Given the description of an element on the screen output the (x, y) to click on. 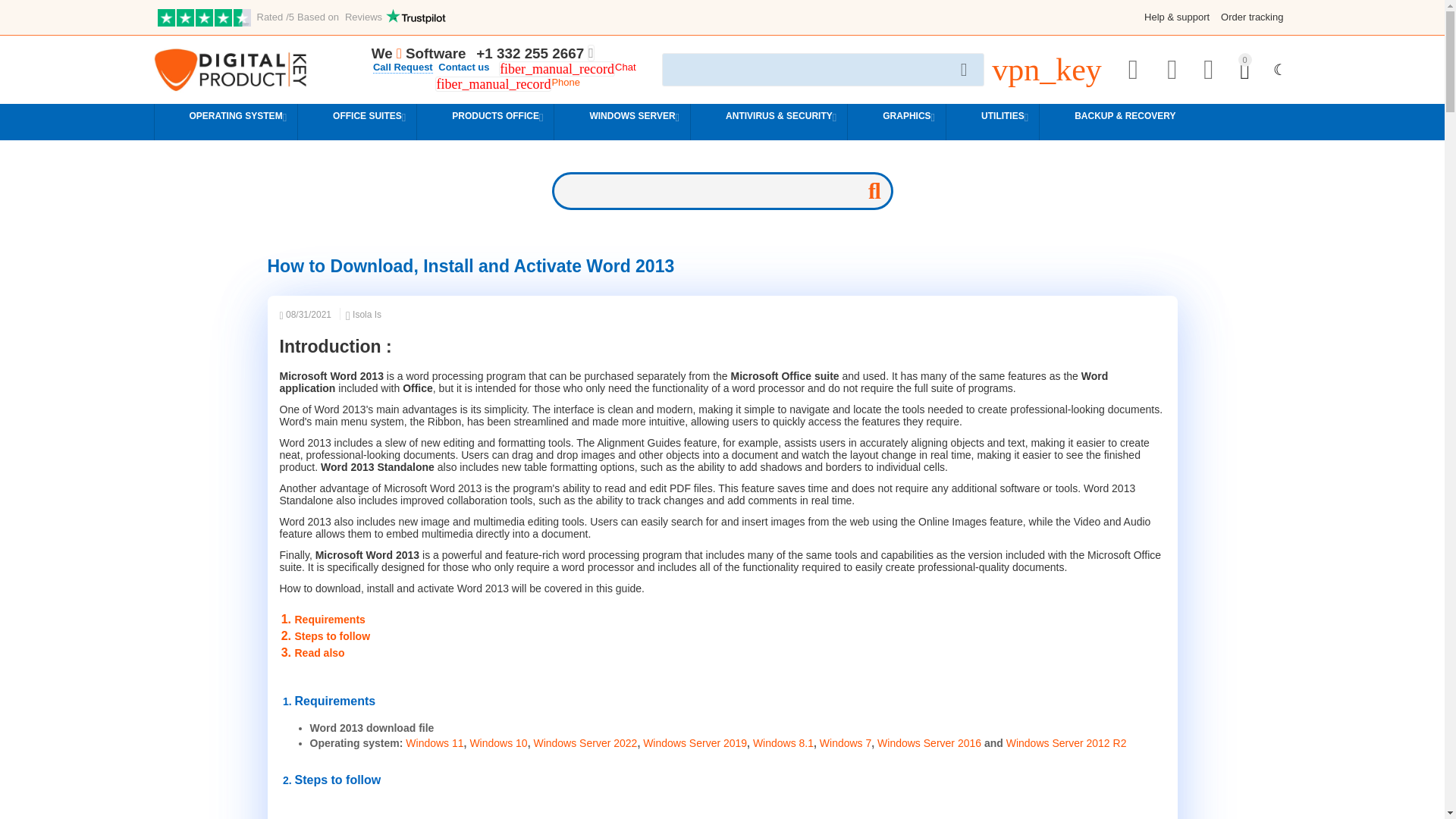
Order tracking (1251, 16)
Search products (823, 69)
We love Software (419, 53)
Call Request (402, 66)
Call us (529, 53)
We Software (419, 53)
View my orders!   (1046, 76)
Search (963, 69)
digitalproductkey Logo (228, 69)
Contact us (463, 66)
